Given the description of an element on the screen output the (x, y) to click on. 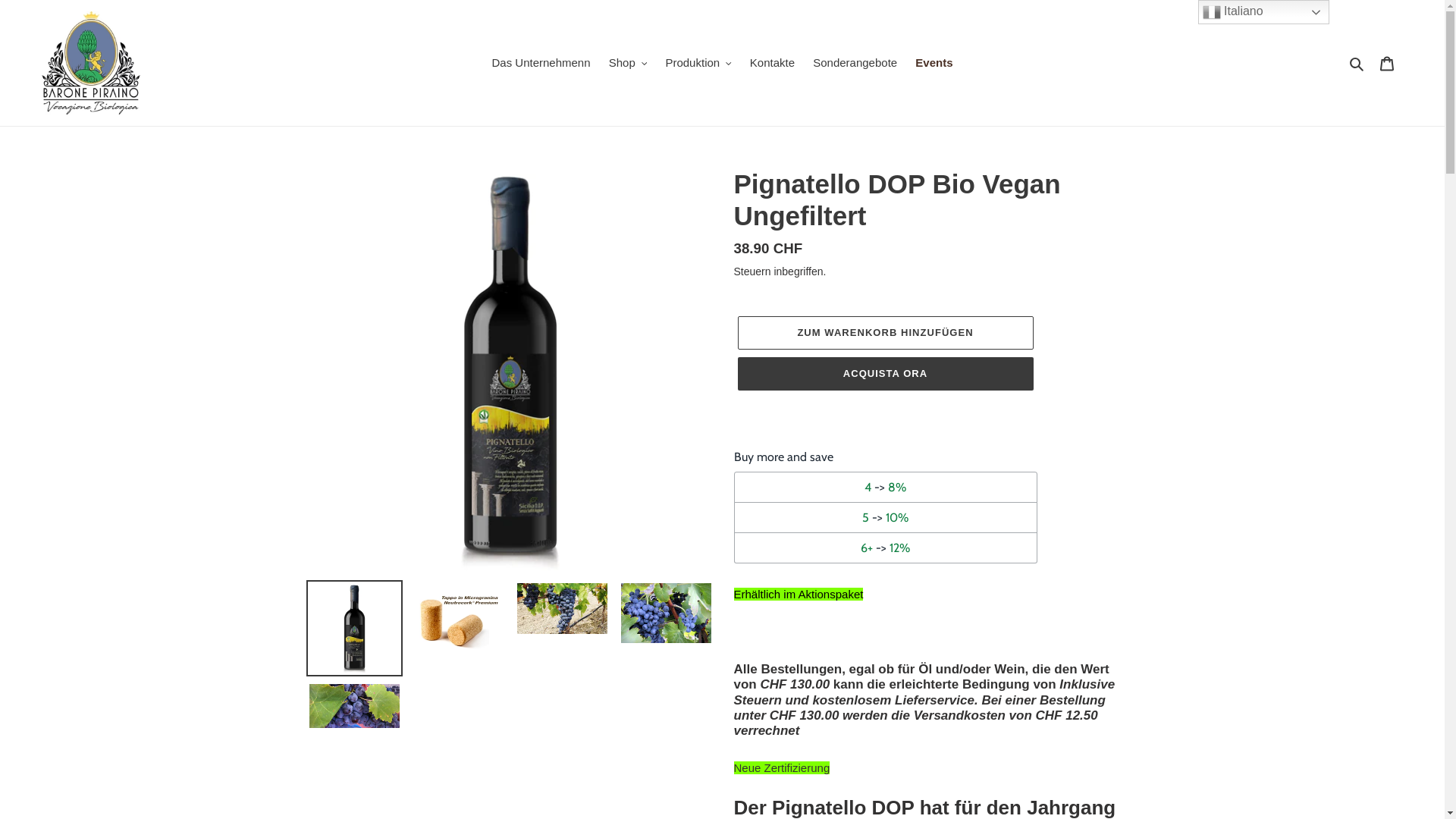
Sonderangebote Element type: text (854, 63)
Events Element type: text (933, 63)
Italiano Element type: text (1263, 12)
ACQUISTA ORA Element type: text (884, 373)
Kontakte Element type: text (772, 63)
Suchen Element type: text (1357, 62)
Produktion Element type: text (697, 63)
Shop Element type: text (628, 63)
Das Unternehmenn Element type: text (540, 63)
Warenkorb Element type: text (1386, 63)
